Given the description of an element on the screen output the (x, y) to click on. 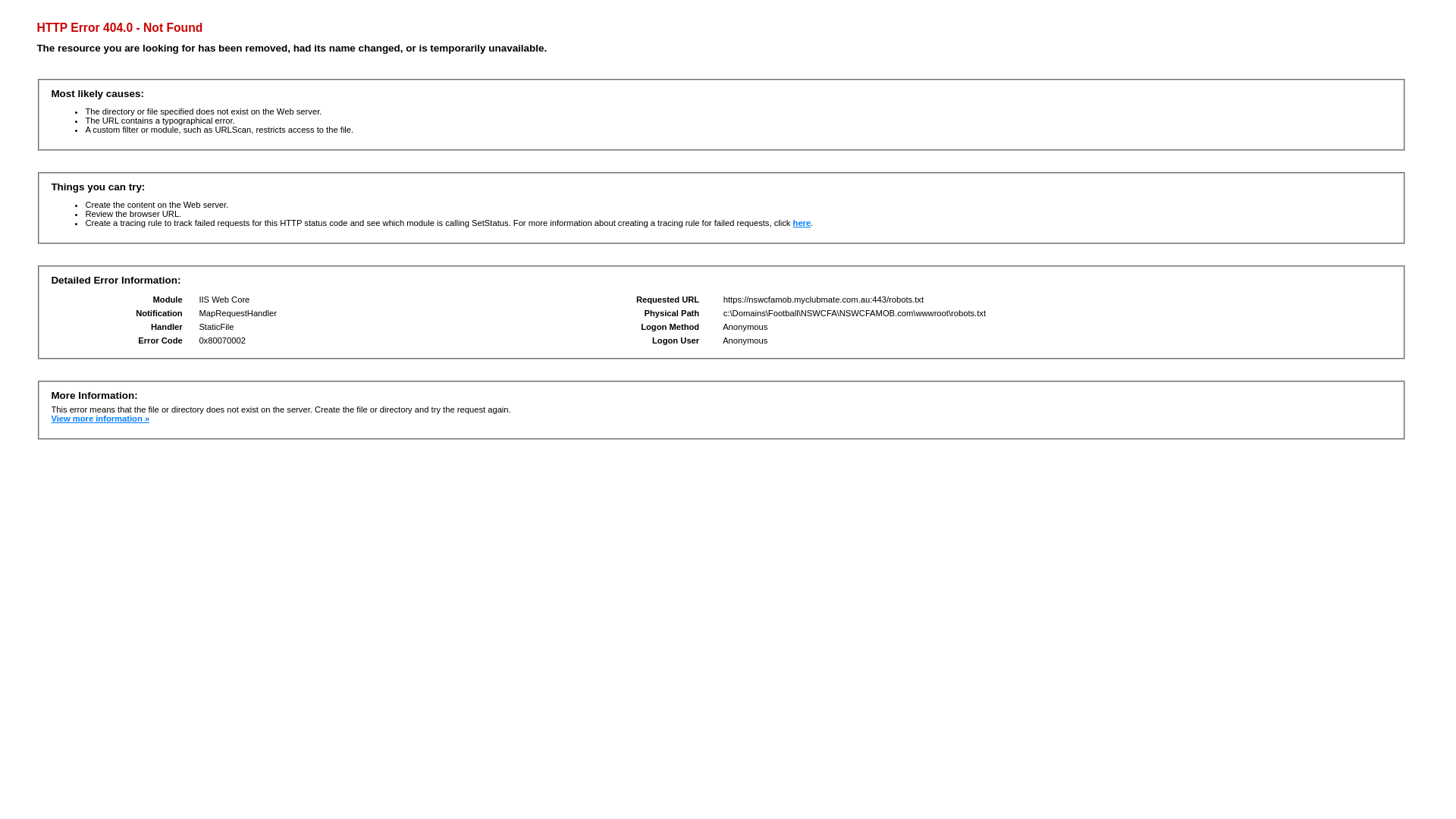
here Element type: text (802, 222)
